Given the description of an element on the screen output the (x, y) to click on. 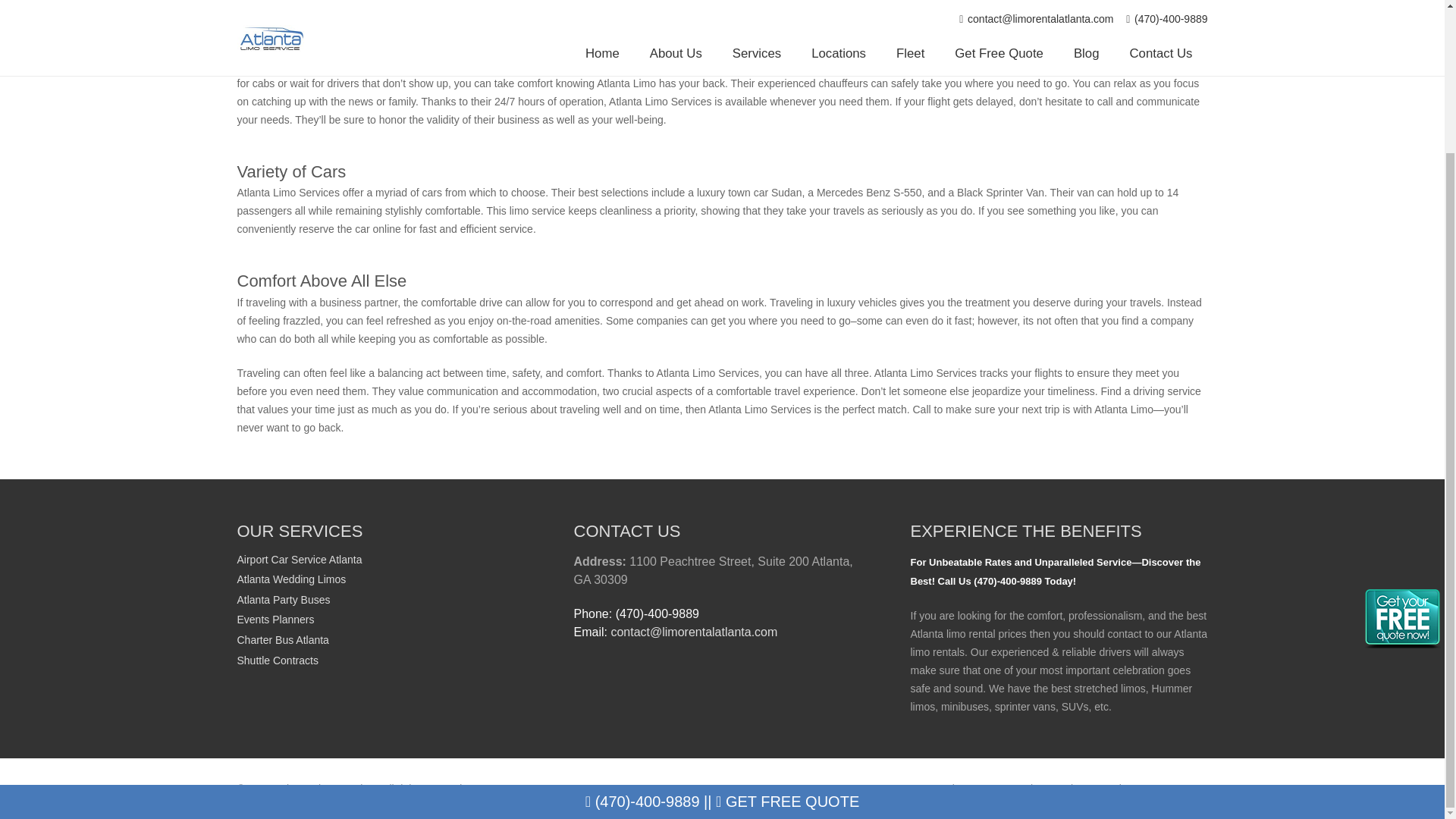
Blog (1074, 788)
Airport Car Service Atlanta (298, 559)
Atlanta Party Buses (282, 599)
Charter Bus Atlanta (282, 639)
Home (912, 788)
Shuttle Contracts (276, 660)
Events Planners (274, 619)
Feel Free. Contact Us! (1154, 788)
Atlanta Wedding Limos (290, 579)
